Given the description of an element on the screen output the (x, y) to click on. 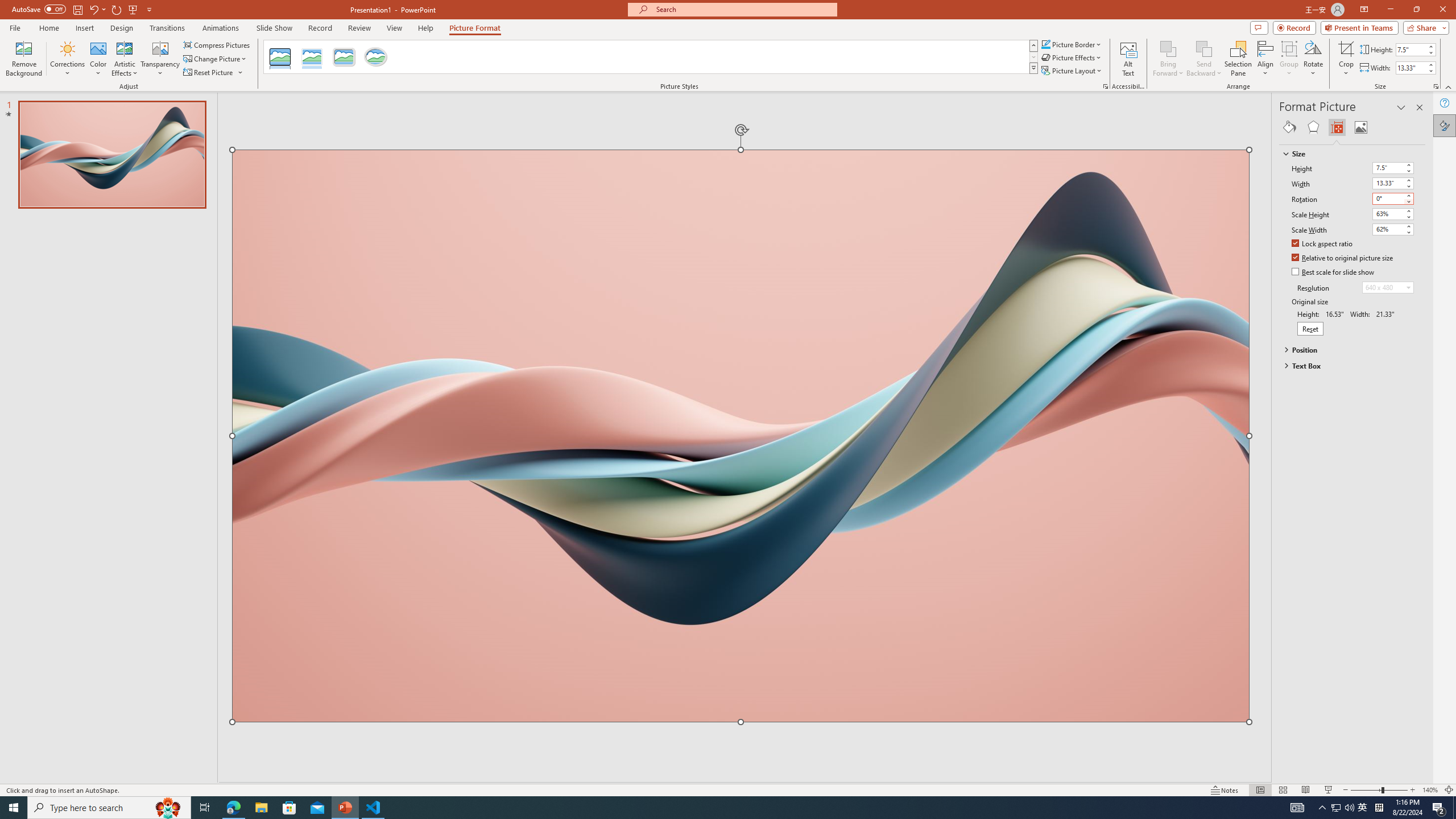
Resolution (1387, 287)
Metal Oval (375, 56)
Reflected Bevel, Black (280, 56)
Picture Layout (1072, 69)
Picture Border Blue, Accent 1 (1045, 44)
Change Picture (216, 58)
